Given the description of an element on the screen output the (x, y) to click on. 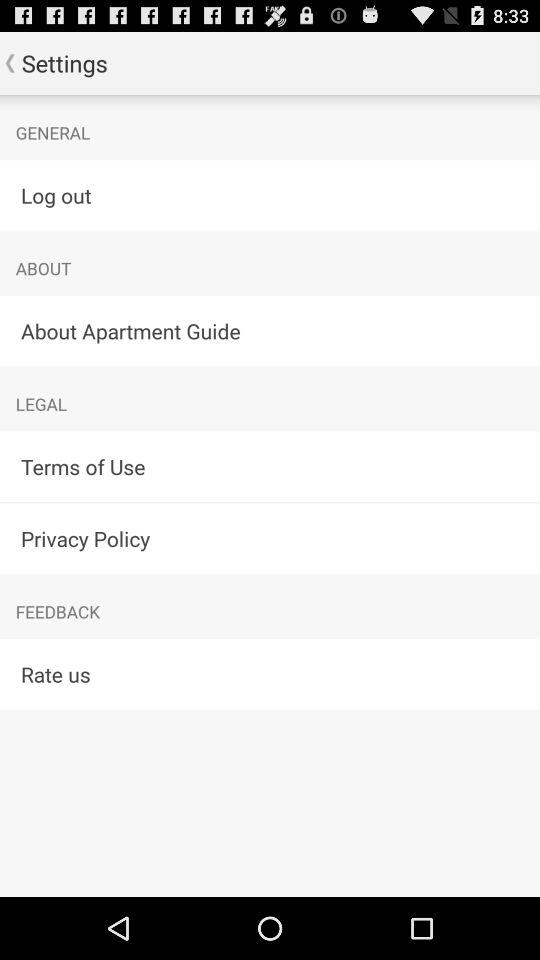
click rate us icon (270, 673)
